Given the description of an element on the screen output the (x, y) to click on. 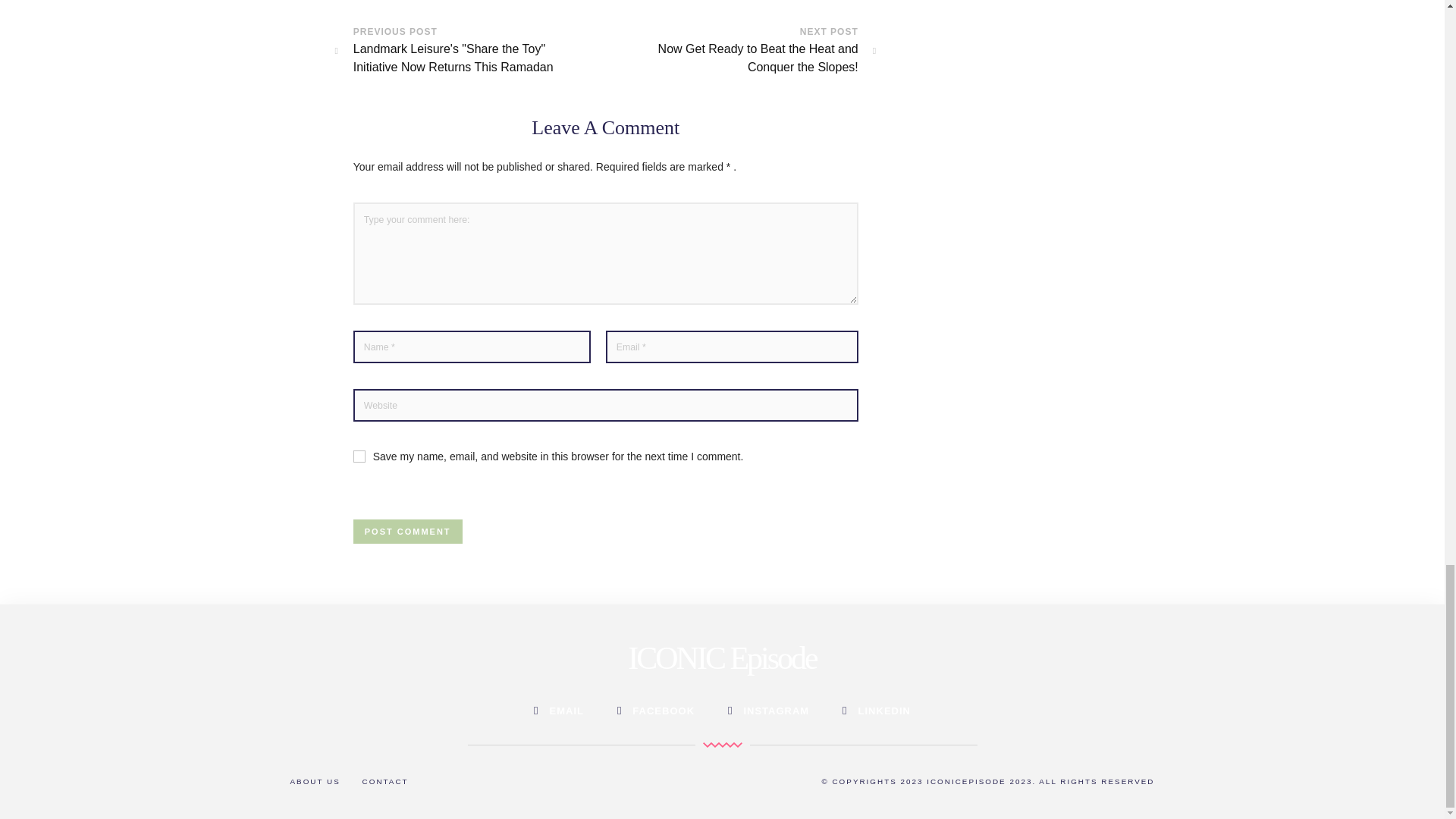
Post Comment (408, 531)
yes (359, 456)
Post Comment (408, 531)
